Given the description of an element on the screen output the (x, y) to click on. 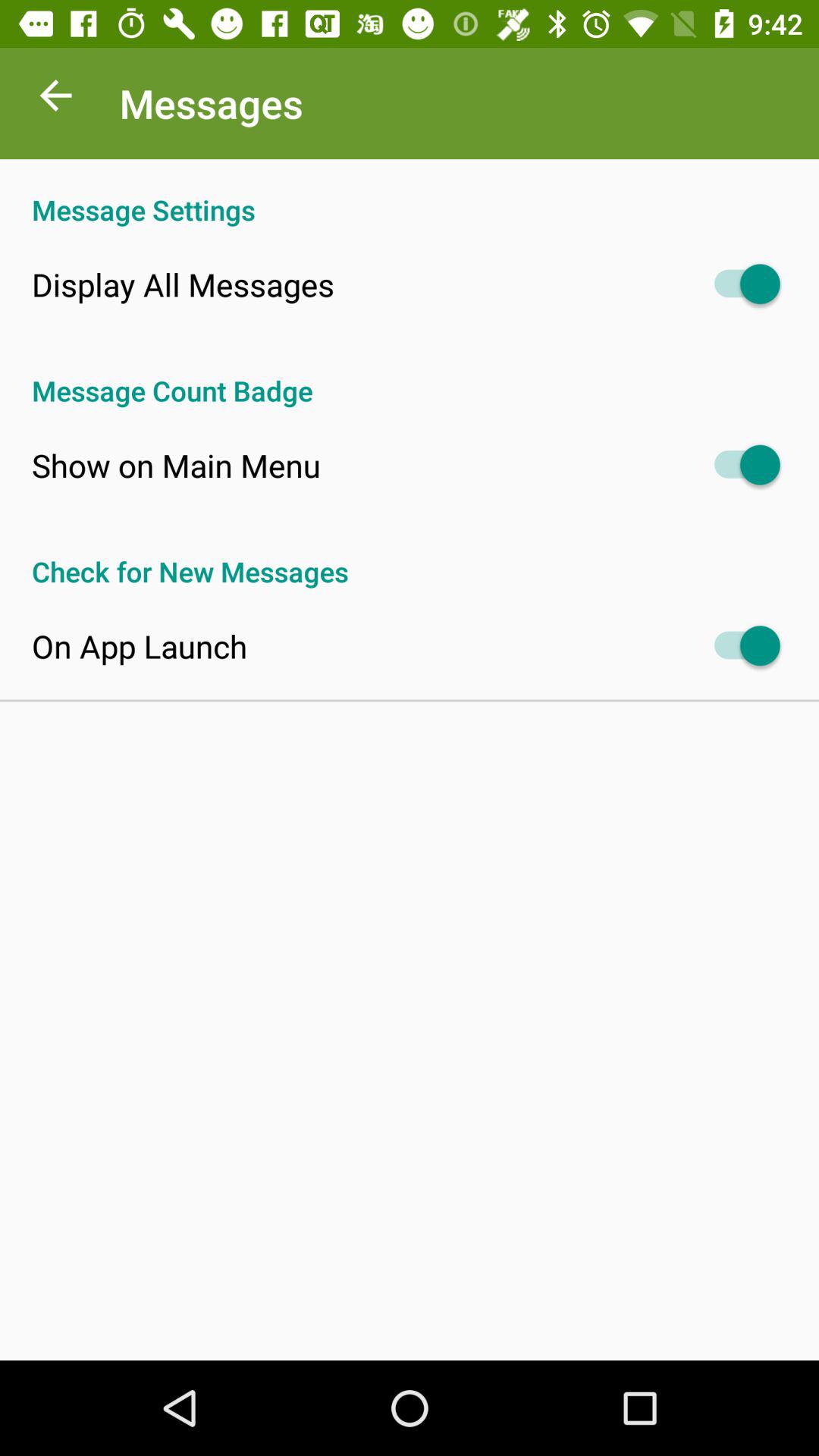
jump to display all messages (182, 283)
